Given the description of an element on the screen output the (x, y) to click on. 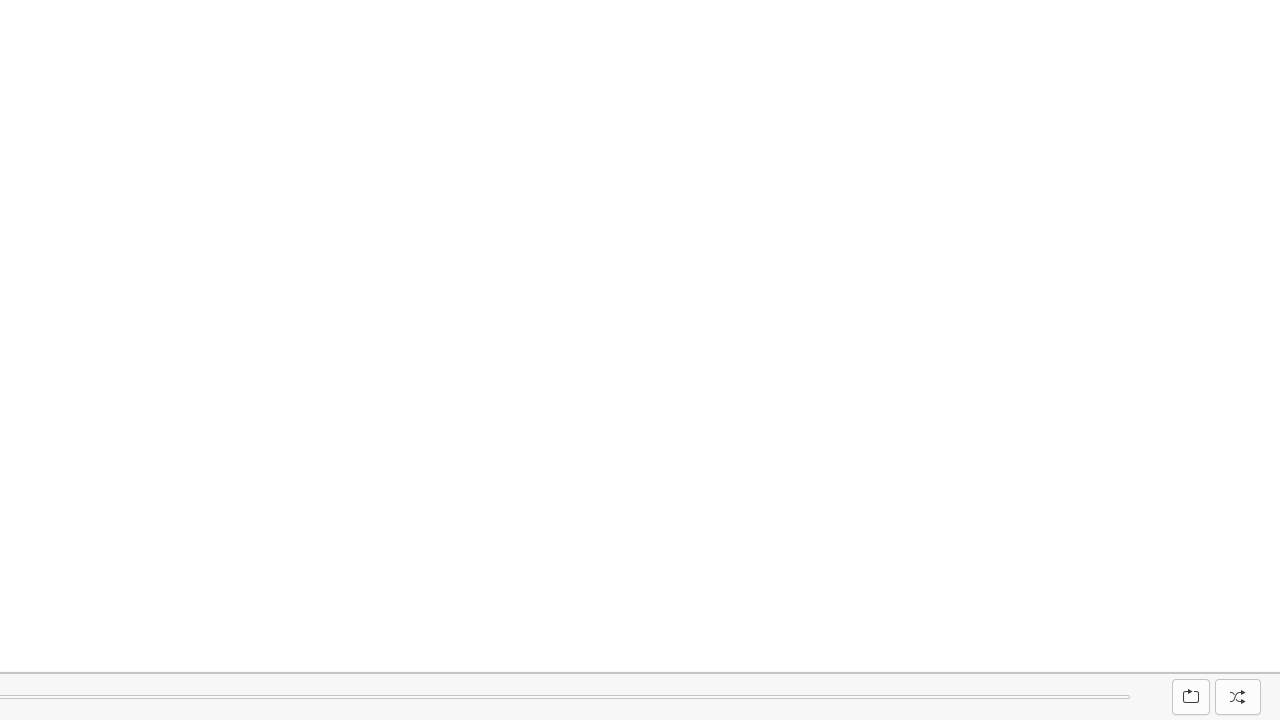
11 stations Element type: label (1227, 658)
